Given the description of an element on the screen output the (x, y) to click on. 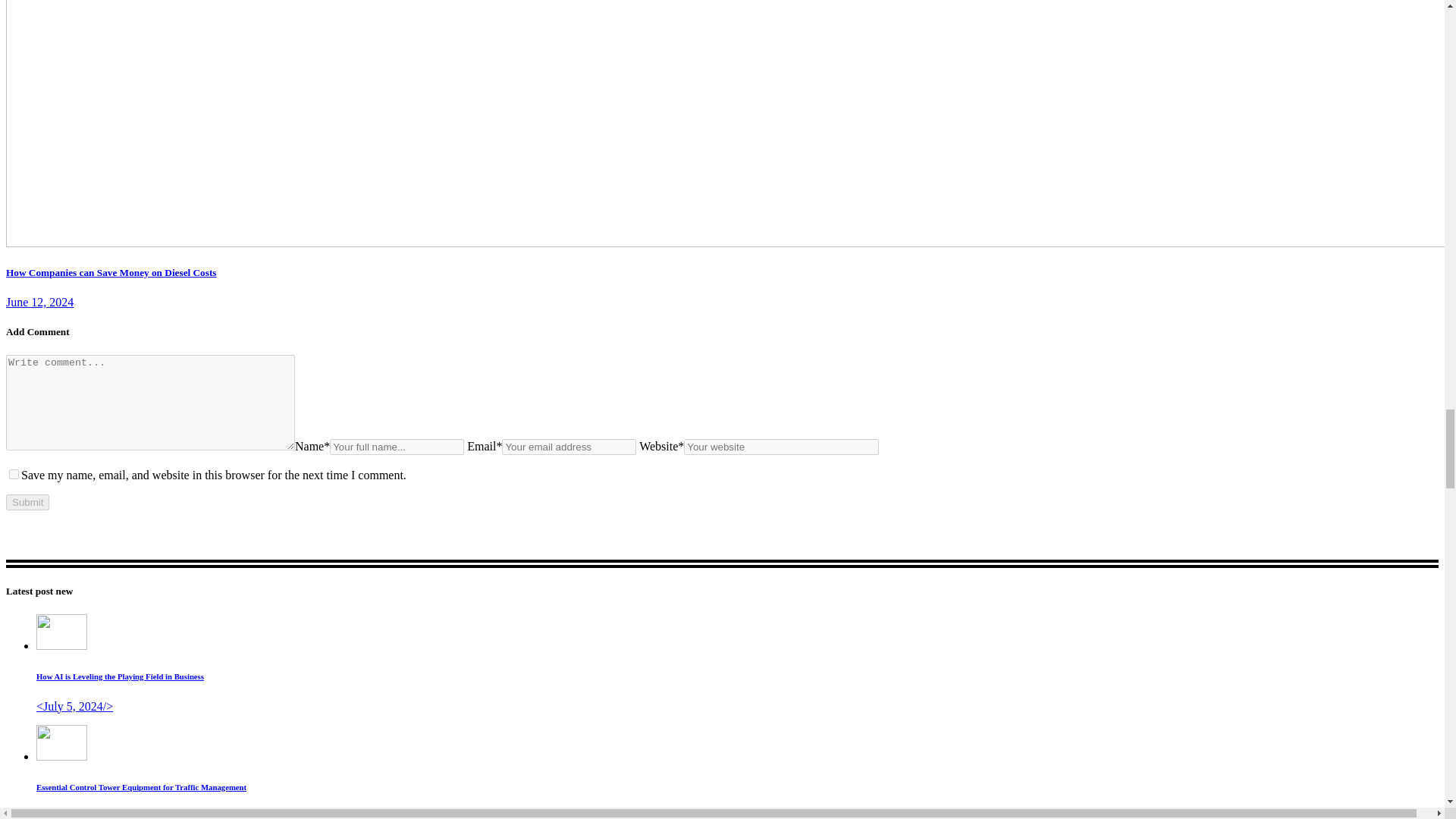
How AI is Leveling the Playing Field in Business (61, 645)
Essential Control Tower Equipment for Traffic Management (141, 786)
Essential Control Tower Equipment for Traffic Management (61, 756)
How Companies can Save Money on Diesel Costs (110, 272)
yes (13, 474)
How AI is Leveling the Playing Field in Business (119, 675)
Submit (27, 502)
